Given the description of an element on the screen output the (x, y) to click on. 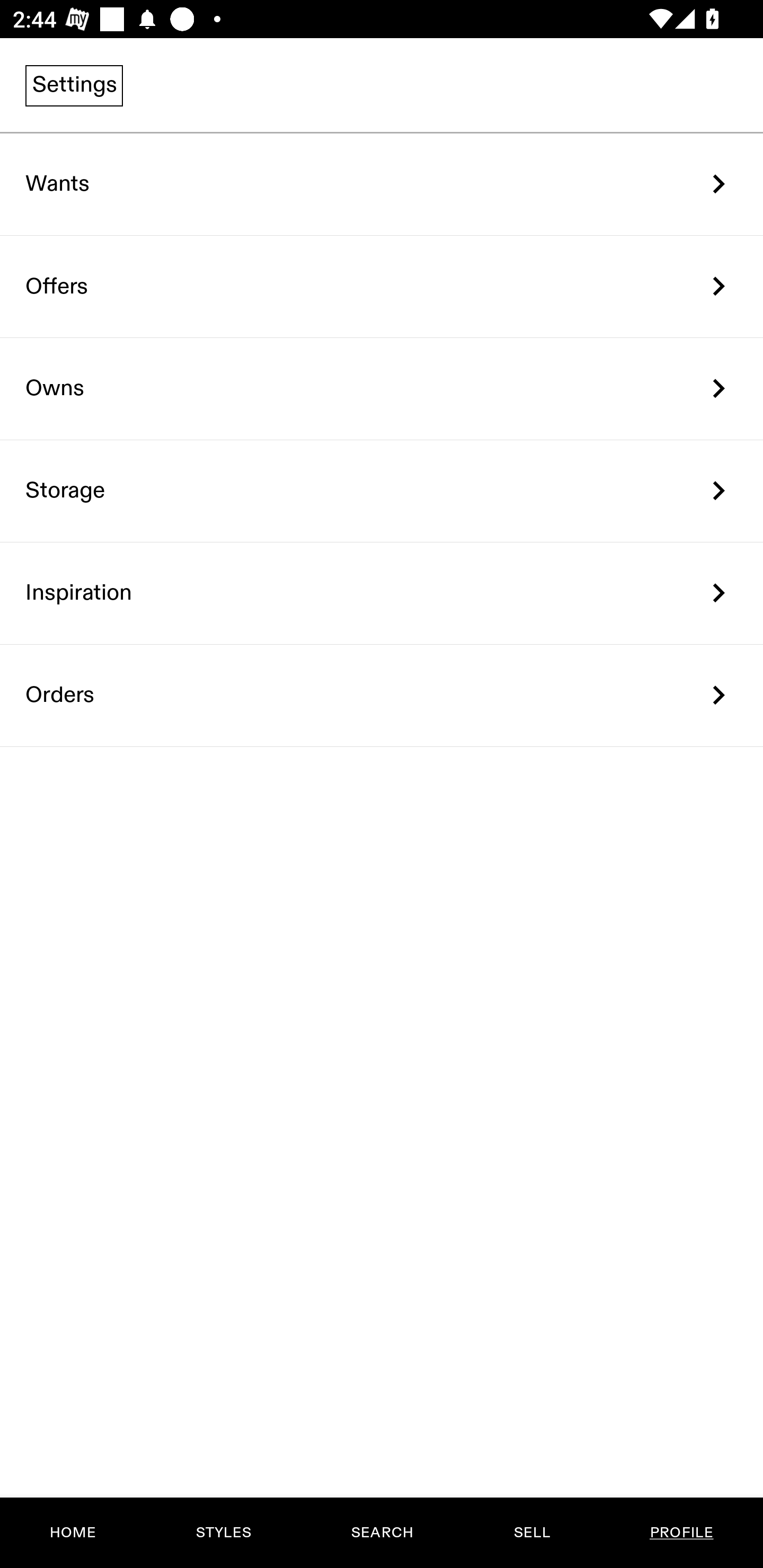
Settings (73, 85)
Wants (381, 184)
Offers (381, 286)
Owns (381, 388)
Storage (381, 491)
Inspiration (381, 593)
Orders (381, 695)
HOME (72, 1532)
STYLES (222, 1532)
SEARCH (381, 1532)
SELL (531, 1532)
PROFILE (681, 1532)
